Given the description of an element on the screen output the (x, y) to click on. 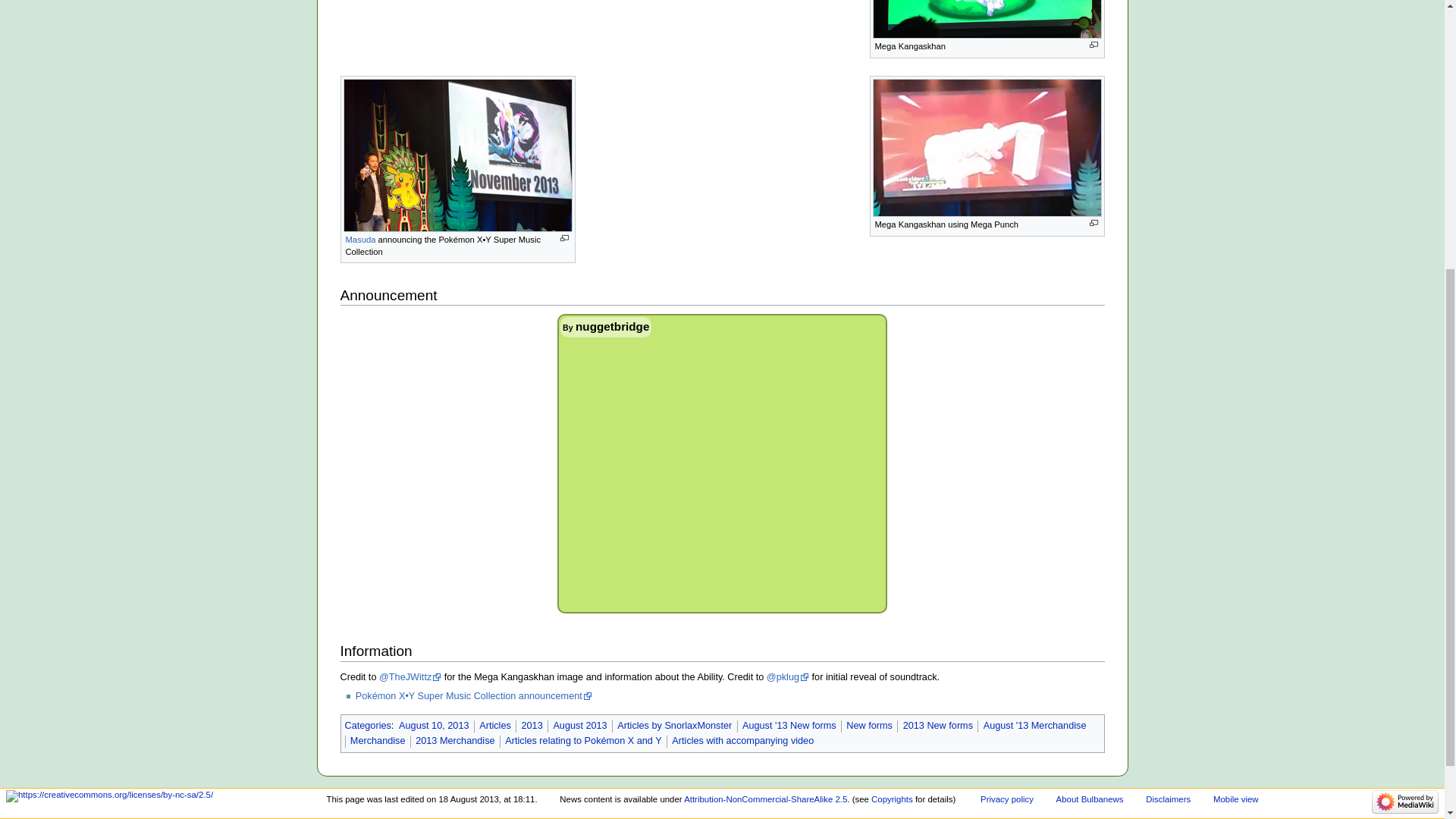
Special:Categories (366, 725)
Category:2013 (531, 725)
Enlarge (563, 238)
Category:August 10, 2013 (433, 725)
bp:Junichi Masuda (360, 239)
Enlarge (1093, 223)
Category:August 2013 (580, 725)
Category:Articles (495, 725)
Enlarge (1093, 44)
